Given the description of an element on the screen output the (x, y) to click on. 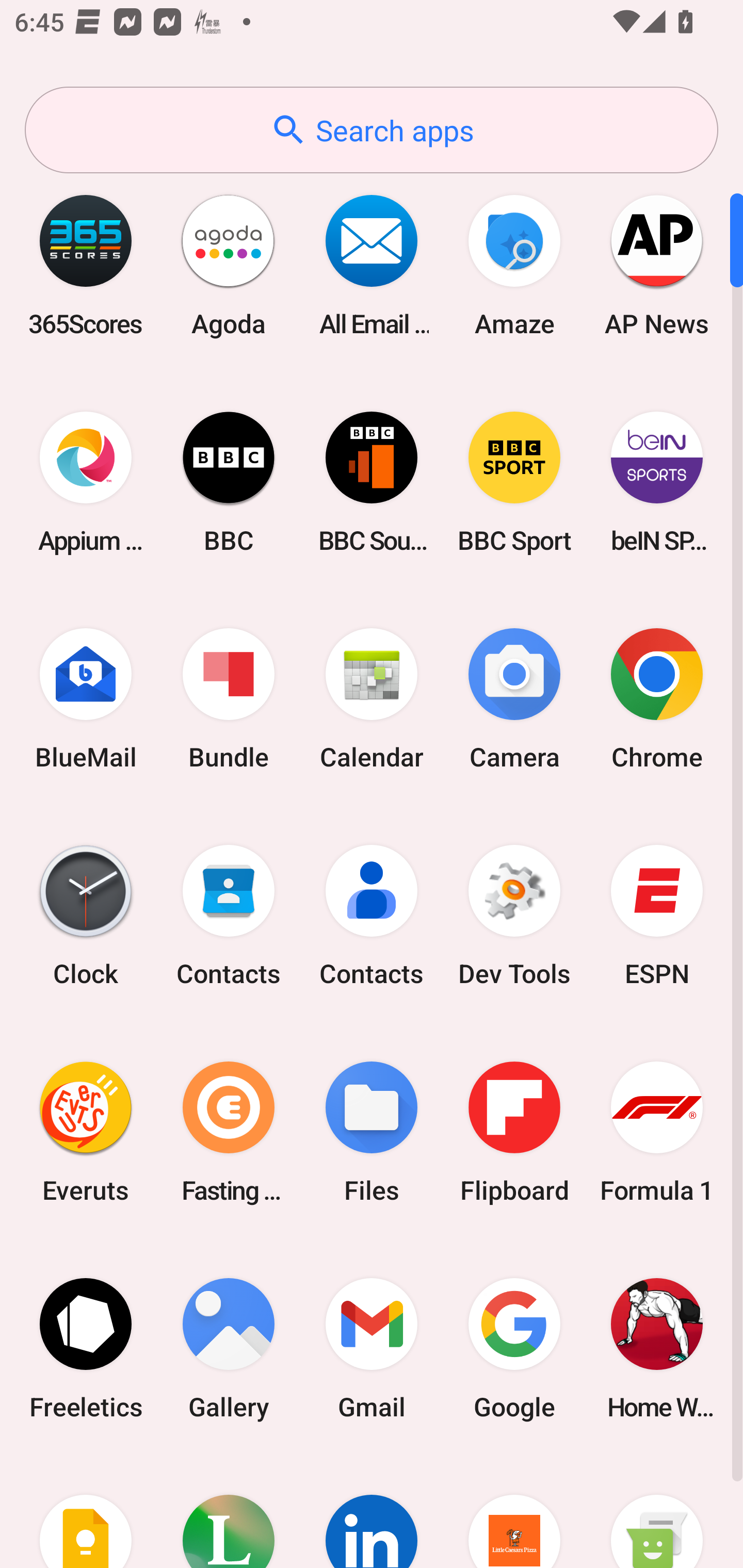
  Search apps (371, 130)
365Scores (85, 264)
Agoda (228, 264)
All Email Connect (371, 264)
Amaze (514, 264)
AP News (656, 264)
Appium Settings (85, 482)
BBC (228, 482)
BBC Sounds (371, 482)
BBC Sport (514, 482)
beIN SPORTS (656, 482)
BlueMail (85, 699)
Bundle (228, 699)
Calendar (371, 699)
Camera (514, 699)
Chrome (656, 699)
Clock (85, 915)
Contacts (228, 915)
Contacts (371, 915)
Dev Tools (514, 915)
ESPN (656, 915)
Everuts (85, 1131)
Fasting Coach (228, 1131)
Files (371, 1131)
Flipboard (514, 1131)
Formula 1 (656, 1131)
Freeletics (85, 1348)
Gallery (228, 1348)
Gmail (371, 1348)
Google (514, 1348)
Home Workout (656, 1348)
Keep Notes (85, 1512)
Lifesum (228, 1512)
LinkedIn (371, 1512)
Little Caesars Pizza (514, 1512)
Messaging (656, 1512)
